Given the description of an element on the screen output the (x, y) to click on. 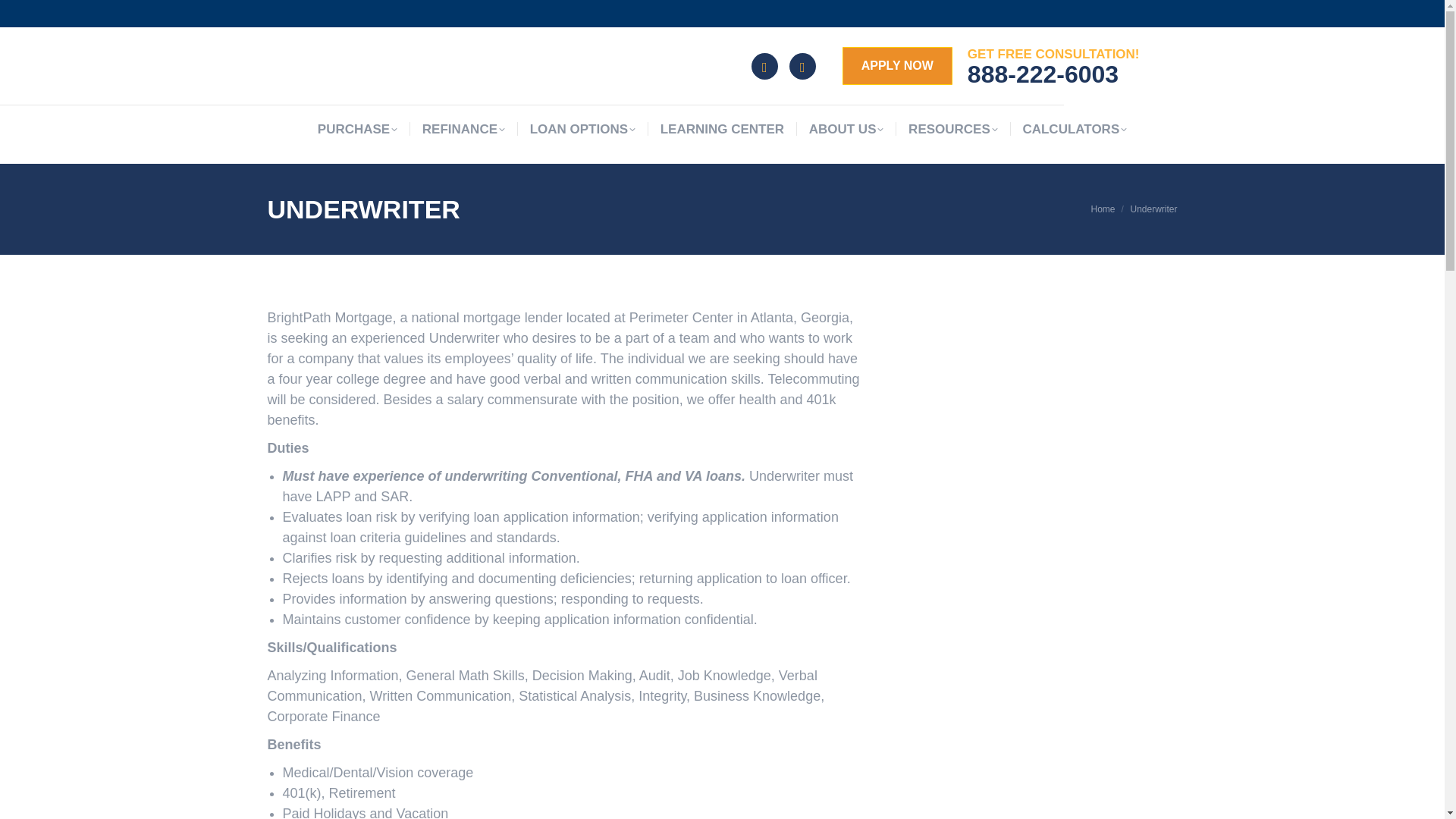
LEARNING CENTER (722, 128)
REFINANCE (463, 128)
Home (1102, 208)
Calculator (764, 66)
Calculator (764, 66)
888-222-6003 (1043, 73)
APPLY NOW (897, 65)
ABOUT US (846, 128)
PURCHASE (357, 128)
Calendar (802, 66)
